Given the description of an element on the screen output the (x, y) to click on. 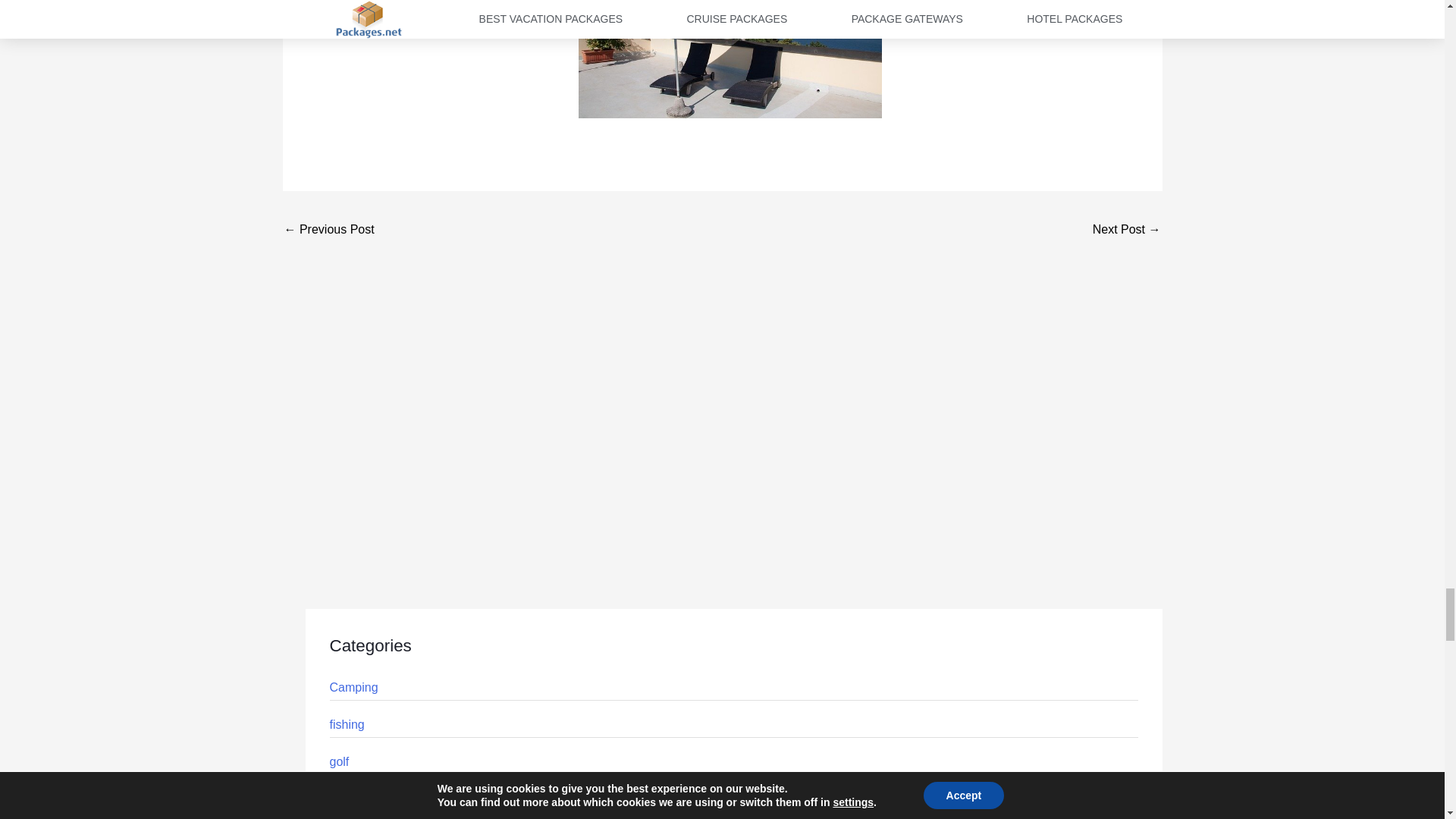
golf (339, 761)
Camping Ideas That Will Boost Your Knowledge (328, 230)
Great Tips And Advice For Smarter Travel (1126, 230)
Camping (353, 686)
fishing (346, 724)
hotels (345, 798)
